Given the description of an element on the screen output the (x, y) to click on. 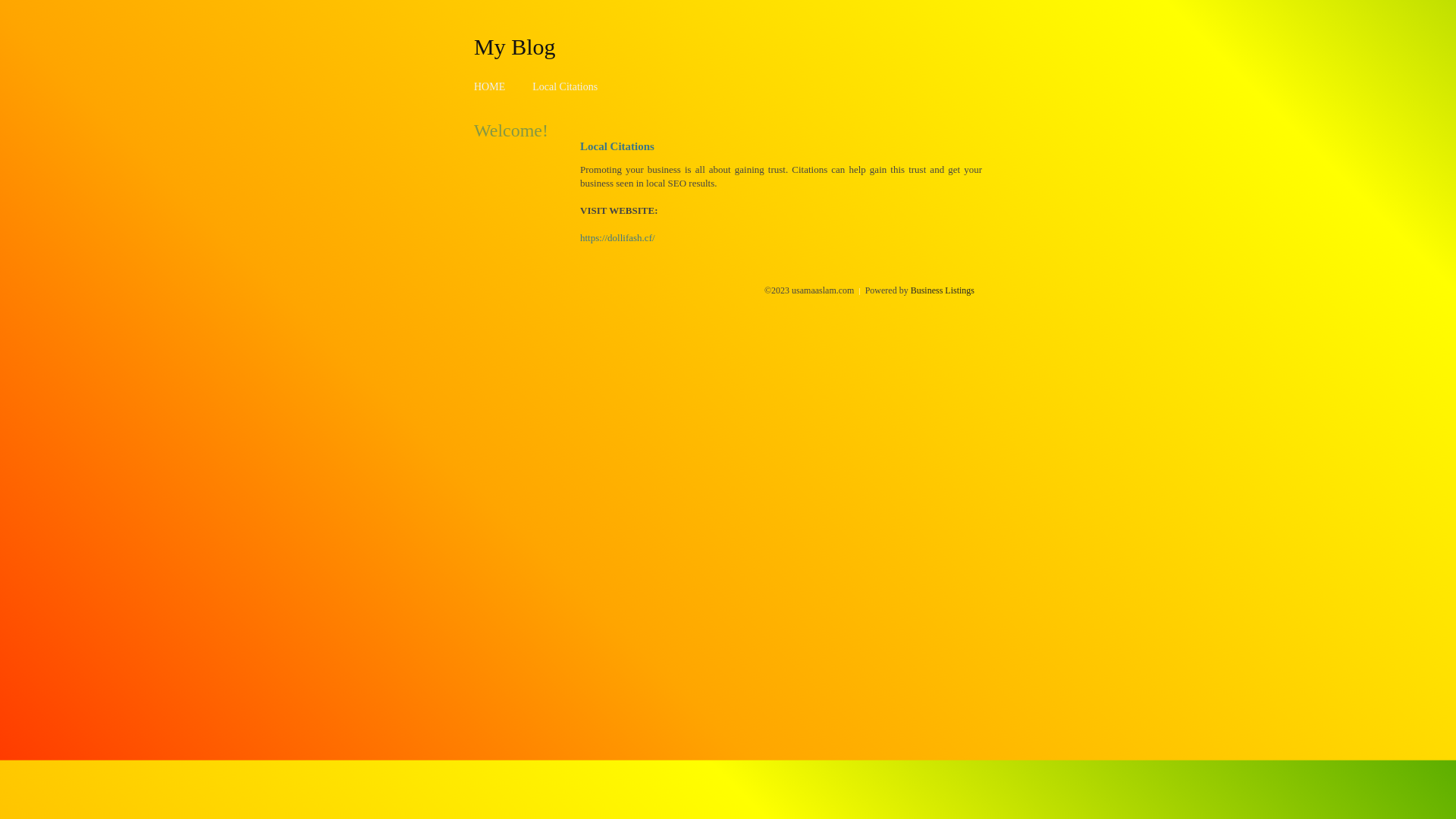
Business Listings Element type: text (942, 290)
Local Citations Element type: text (564, 86)
My Blog Element type: text (514, 46)
https://dollifash.cf/ Element type: text (617, 237)
HOME Element type: text (489, 86)
